Given the description of an element on the screen output the (x, y) to click on. 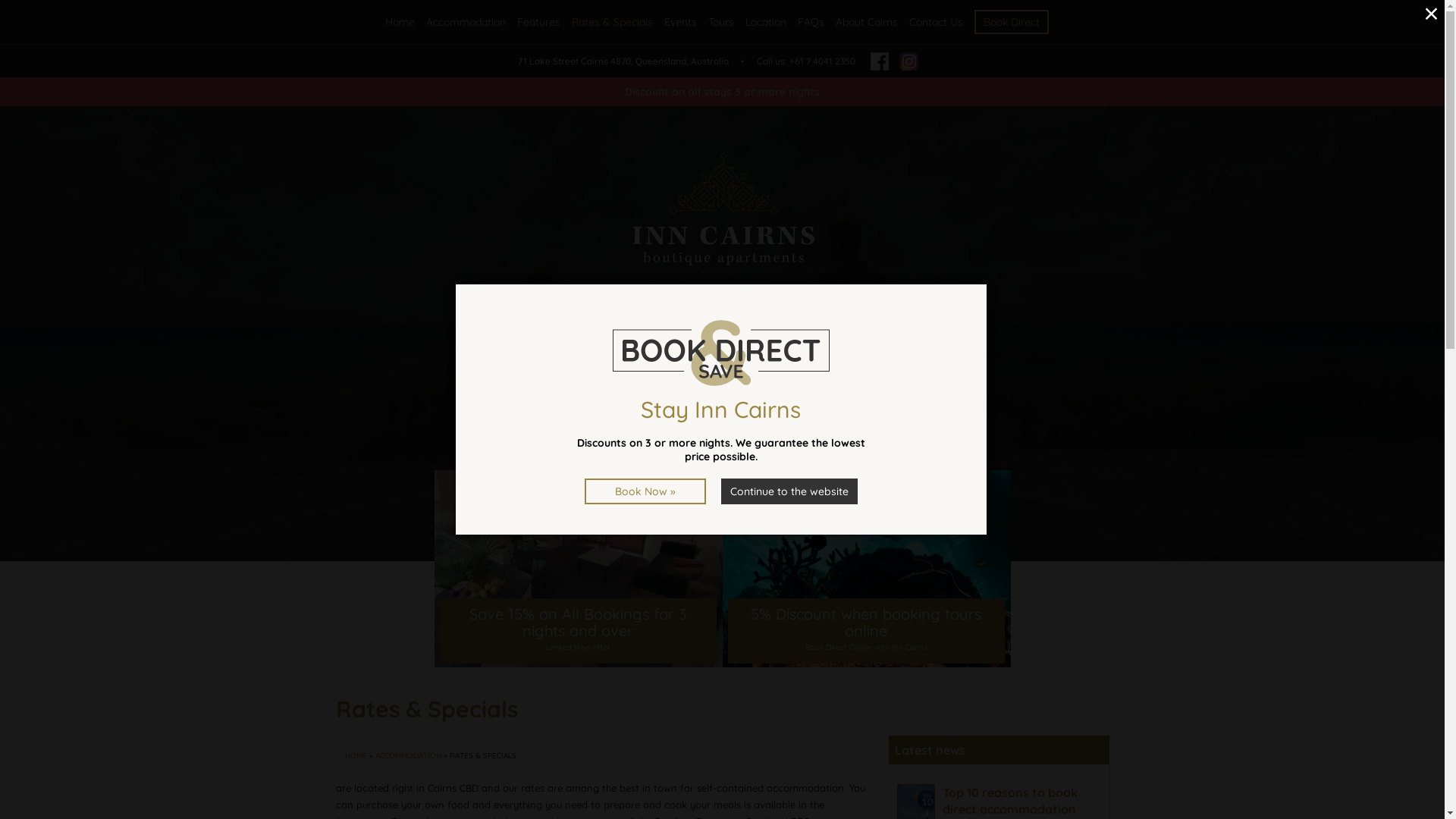
Top 10 reasons to book direct accommodation Element type: text (1008, 800)
Book Direct Element type: text (721, 438)
About Cairns Element type: text (866, 21)
Home Element type: text (399, 21)
Inn Cairns Element type: hover (722, 208)
Book Direct & Save Element type: hover (720, 352)
Rates & Specials Element type: text (611, 21)
Events Element type: text (680, 21)
HOME Element type: text (355, 755)
Tours Element type: text (721, 21)
Accommodation Element type: text (465, 21)
Features Element type: text (538, 21)
ACCOMMODATION Element type: text (407, 755)
Discount on all stays 3 or more nights Element type: text (722, 91)
Book Direct Element type: text (1010, 21)
Location Element type: text (764, 21)
Continue to the website Element type: text (788, 491)
Contact Us Element type: text (935, 21)
FAQs Element type: text (810, 21)
